Given the description of an element on the screen output the (x, y) to click on. 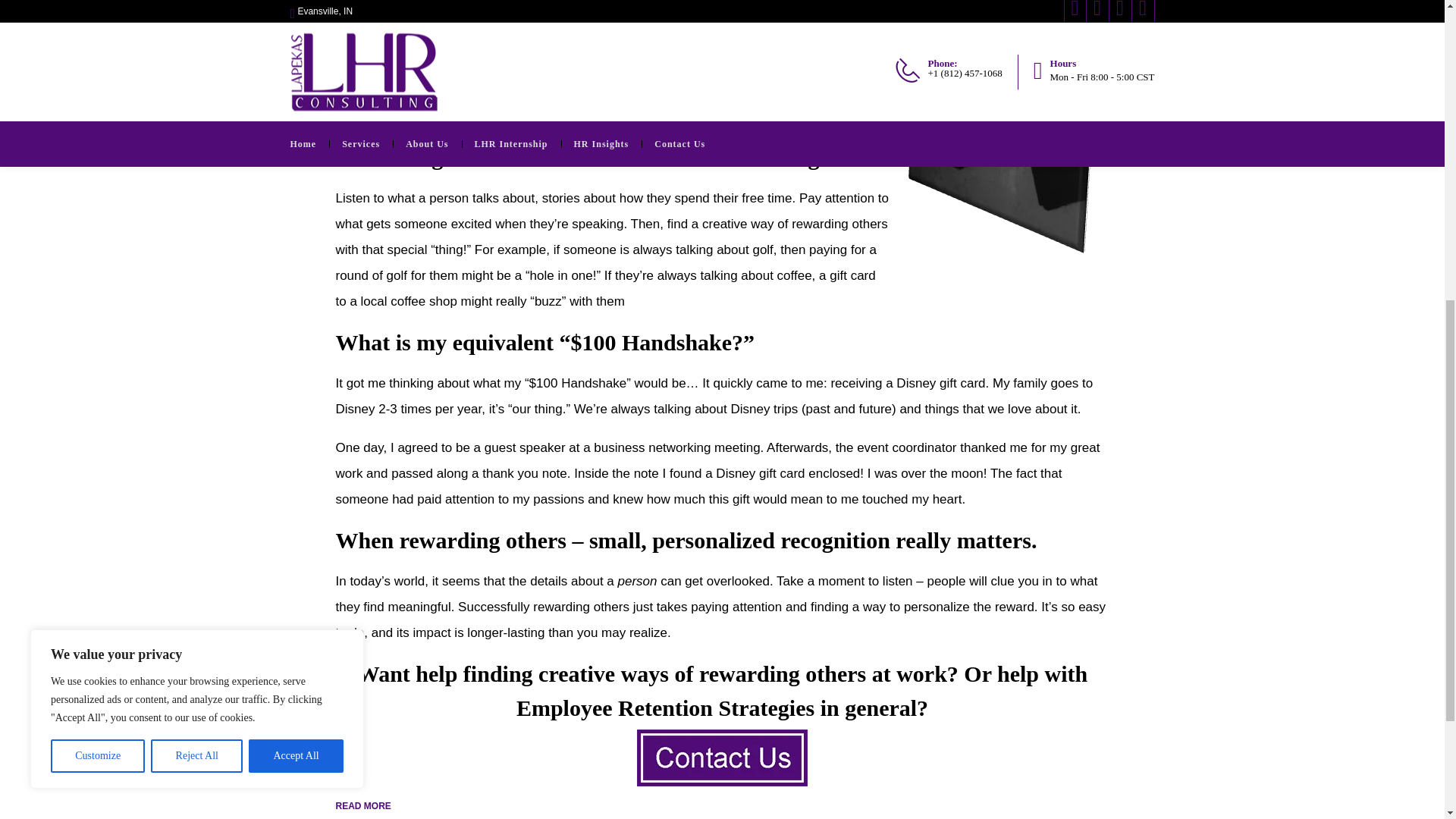
Accept All (295, 192)
Reject All (197, 192)
READ MORE (362, 805)
Customize (97, 192)
